Given the description of an element on the screen output the (x, y) to click on. 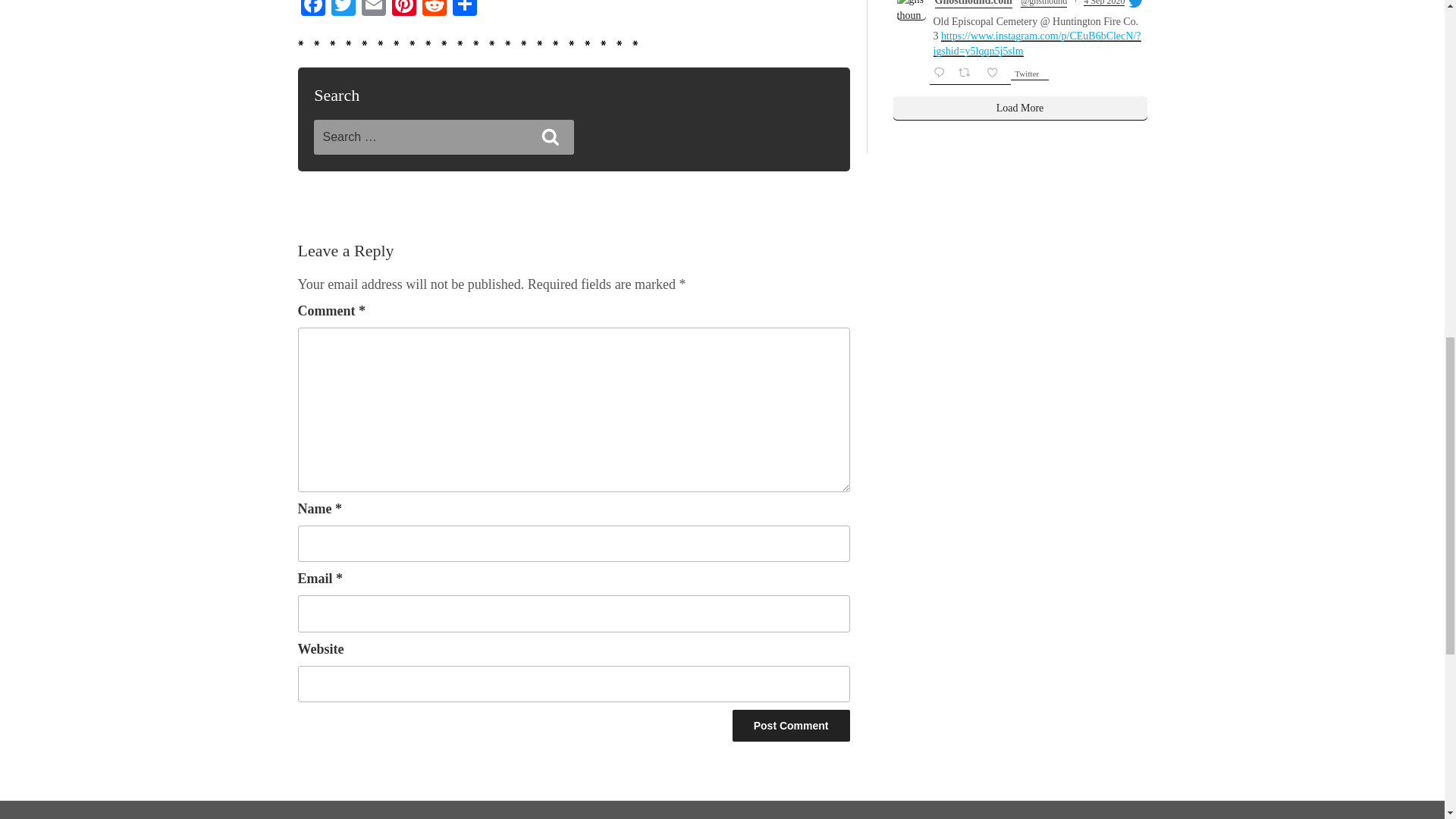
Email (373, 9)
Twitter (342, 9)
Facebook (312, 9)
Search (550, 137)
Post Comment (791, 726)
Pinterest (403, 9)
Facebook (312, 9)
Post Comment (791, 726)
Twitter (342, 9)
Reddit (433, 9)
Email (373, 9)
Reddit (433, 9)
Pinterest (403, 9)
